Given the description of an element on the screen output the (x, y) to click on. 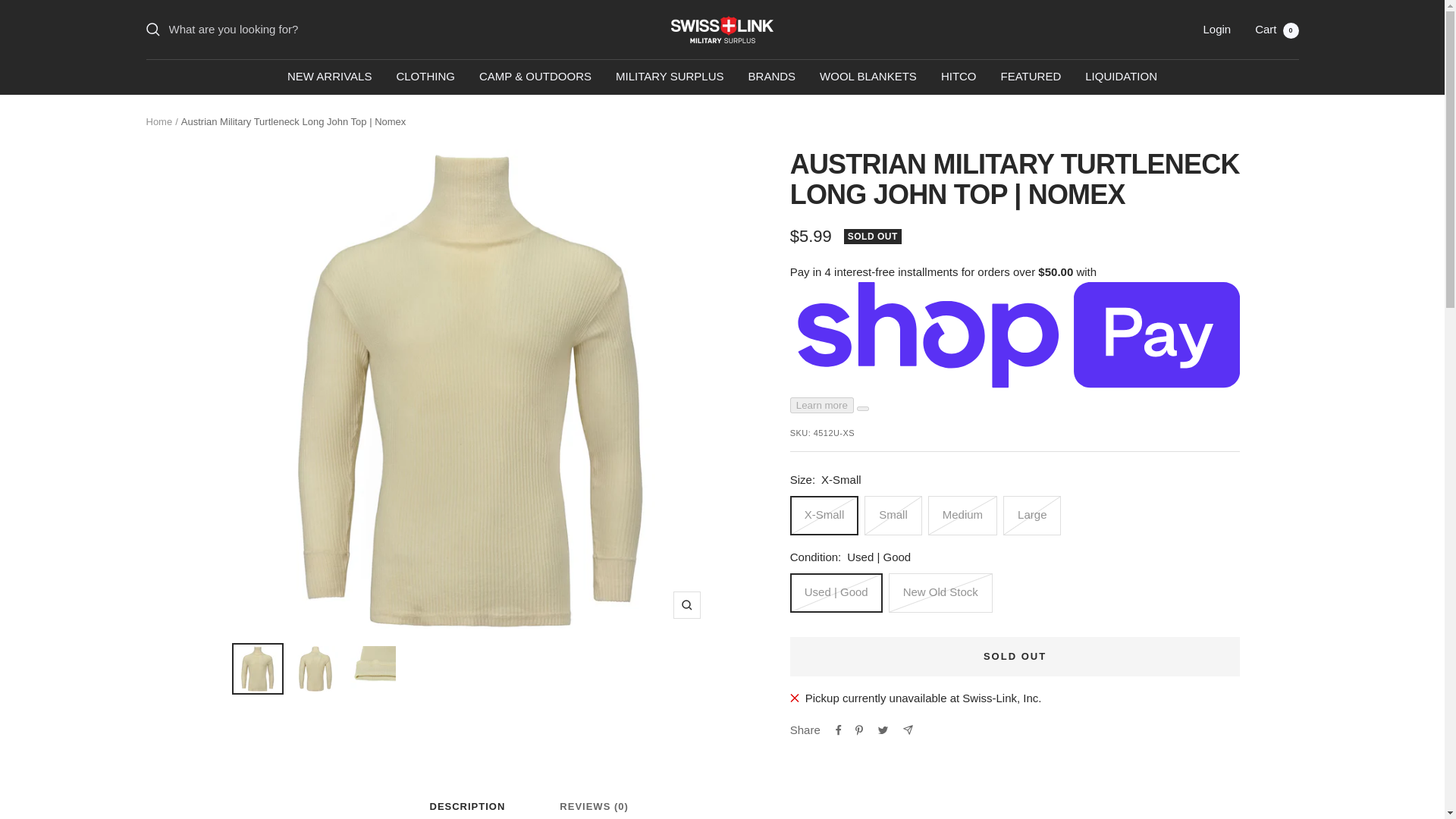
CLOTHING (425, 76)
WOOL BLANKETS (868, 76)
NEW ARRIVALS (328, 76)
LIQUIDATION (1120, 76)
SOLD OUT (1015, 656)
Home (158, 121)
BRANDS (772, 76)
Zoom (686, 605)
